Given the description of an element on the screen output the (x, y) to click on. 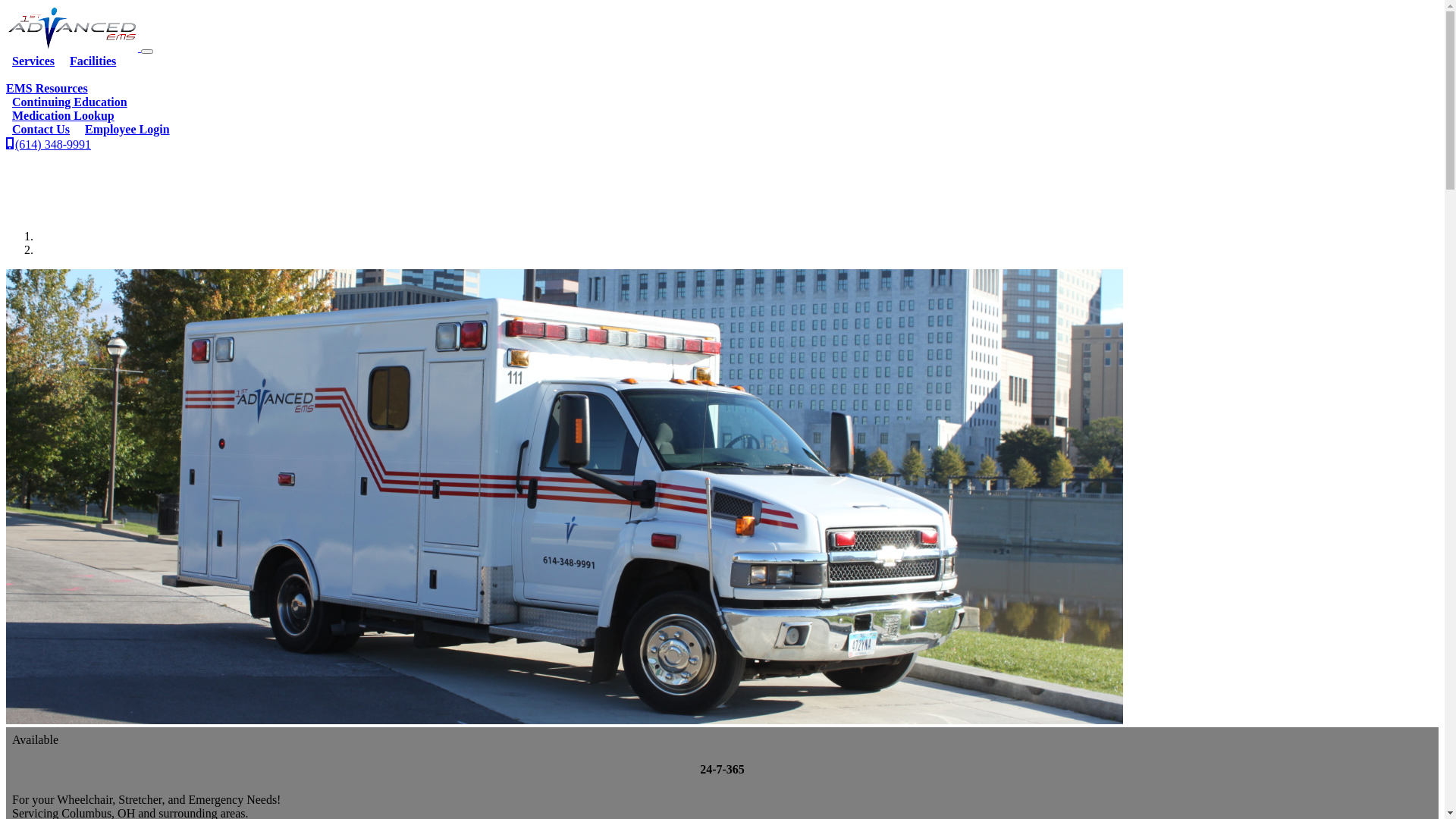
Services Element type: text (33, 60)
Medication Lookup Element type: text (63, 115)
Employee Login Element type: text (126, 128)
EMS Resources Element type: text (722, 54)
Contact Us Element type: text (40, 128)
Continuing Education Element type: text (69, 101)
Facilities Element type: text (92, 60)
(614) 348-9991 Element type: text (48, 144)
